Given the description of an element on the screen output the (x, y) to click on. 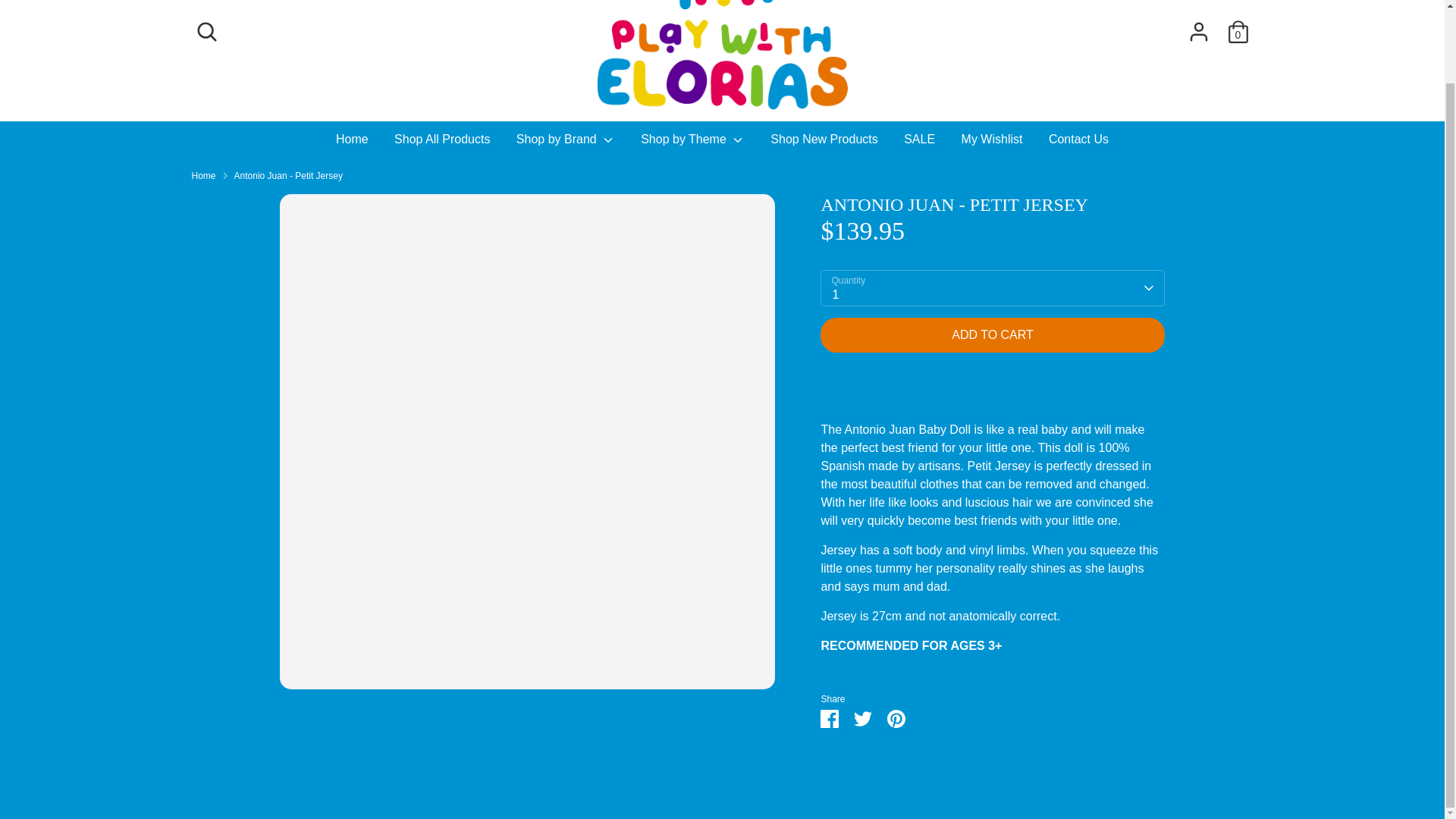
Shop Pay (1176, 689)
Union Pay (1206, 689)
0 (1237, 31)
Search (205, 31)
Mastercard (1114, 689)
American Express (1024, 689)
Google Pay (1084, 689)
Apple Pay (1054, 689)
PayPal (1145, 689)
